Given the description of an element on the screen output the (x, y) to click on. 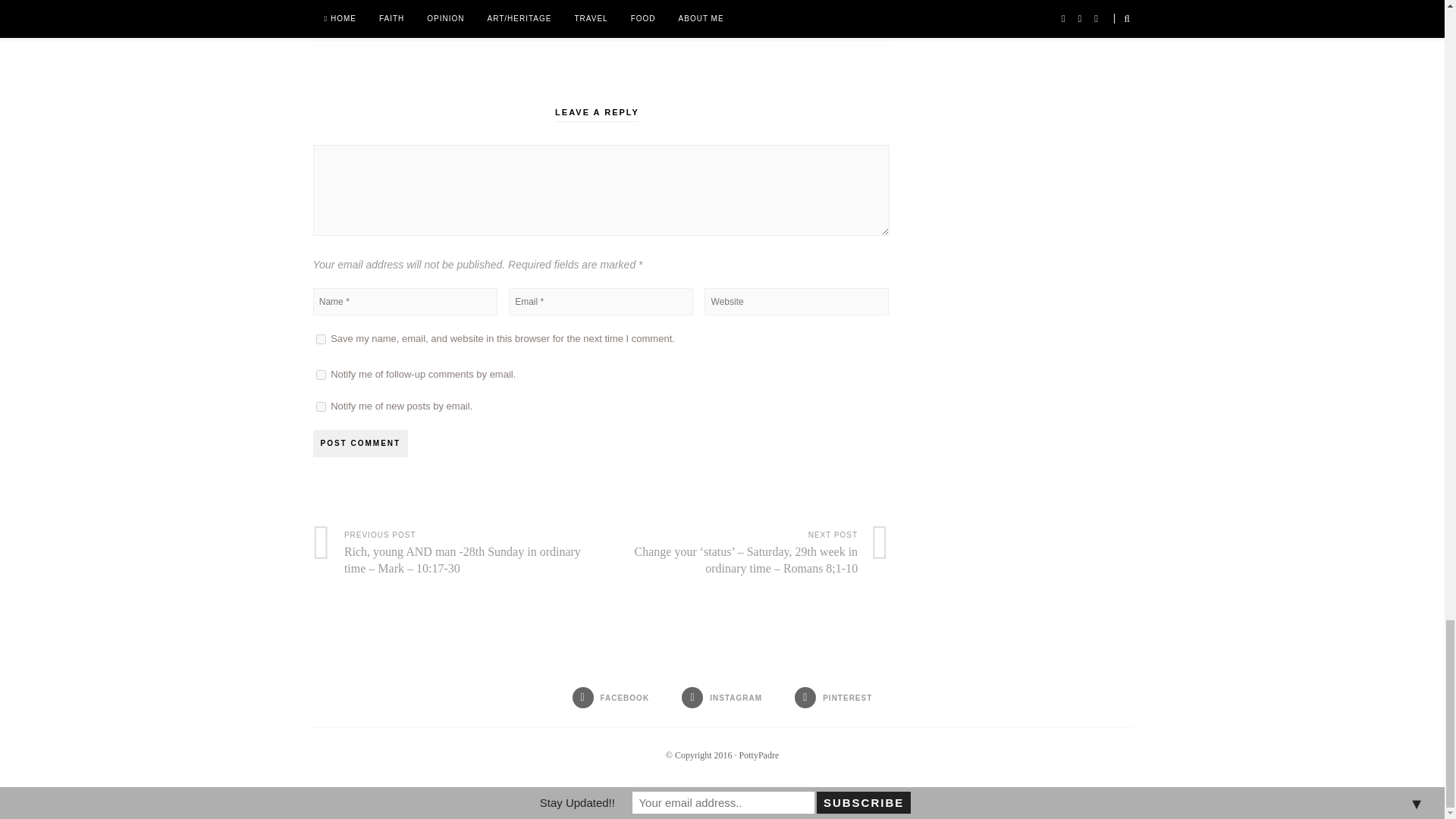
yes (319, 338)
subscribe (319, 406)
Post Comment (360, 443)
subscribe (319, 375)
